Given the description of an element on the screen output the (x, y) to click on. 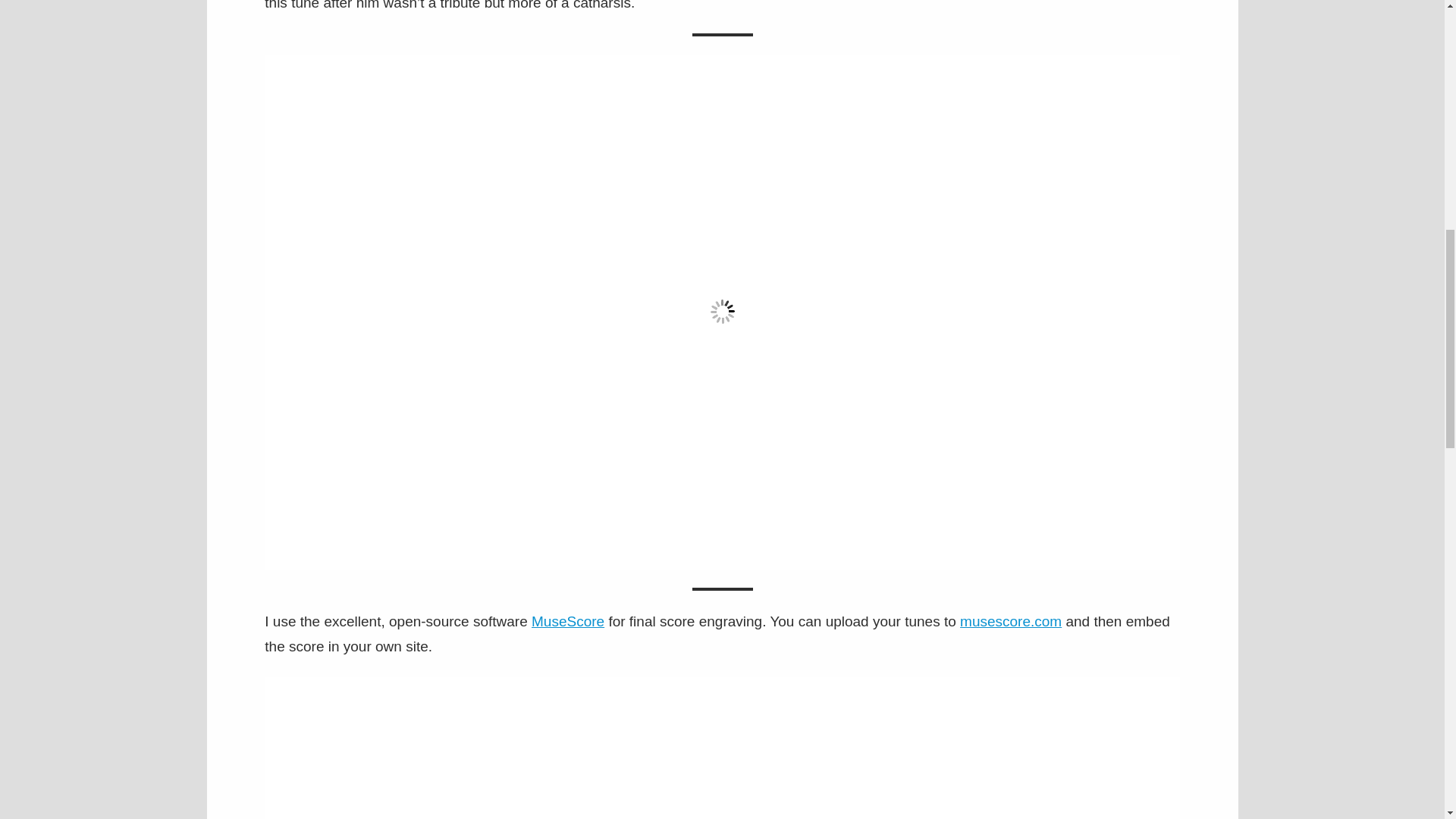
musescore.com (1010, 621)
MuseScore (567, 621)
